Given the description of an element on the screen output the (x, y) to click on. 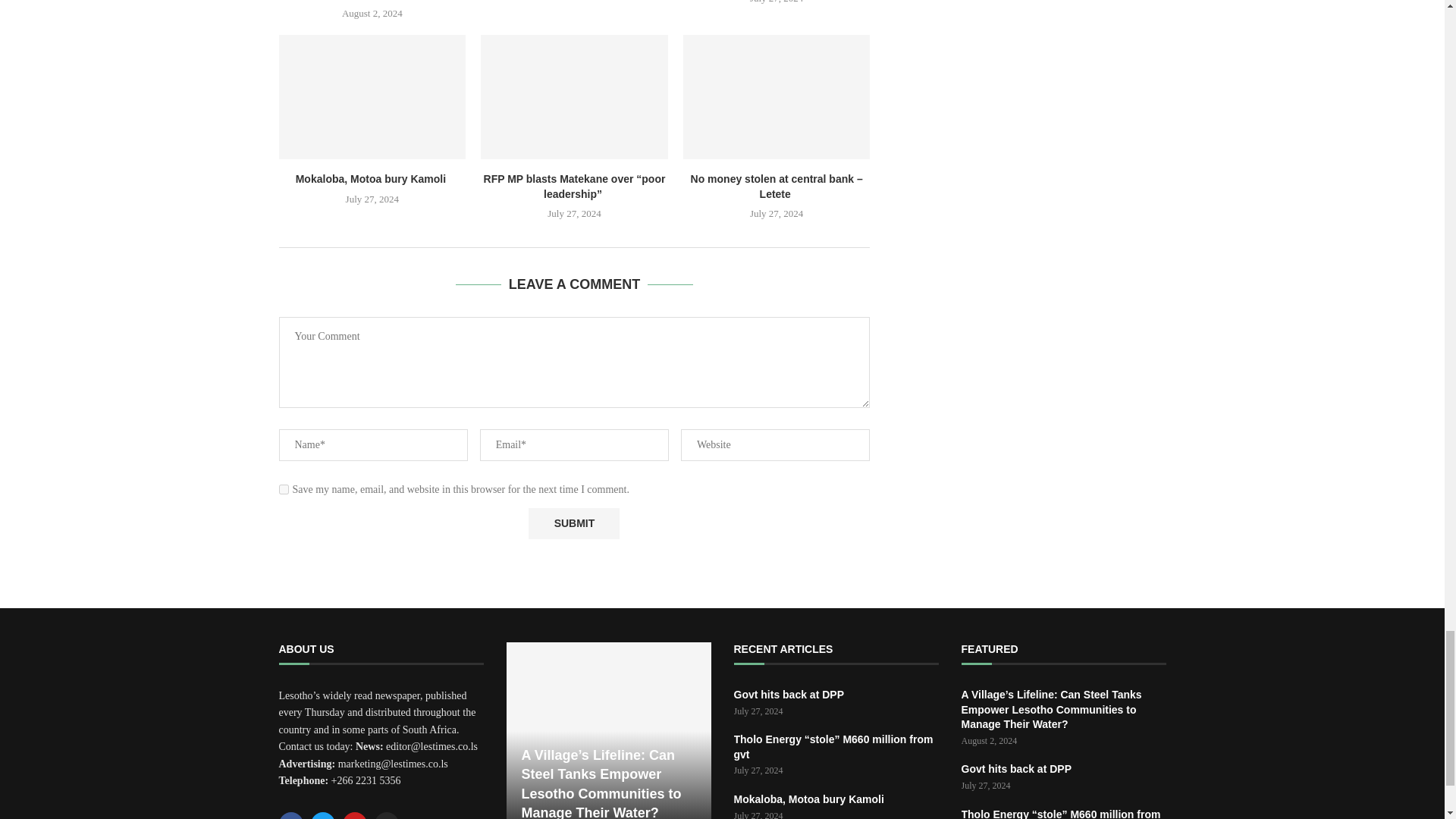
yes (283, 489)
Submit (574, 522)
